Given the description of an element on the screen output the (x, y) to click on. 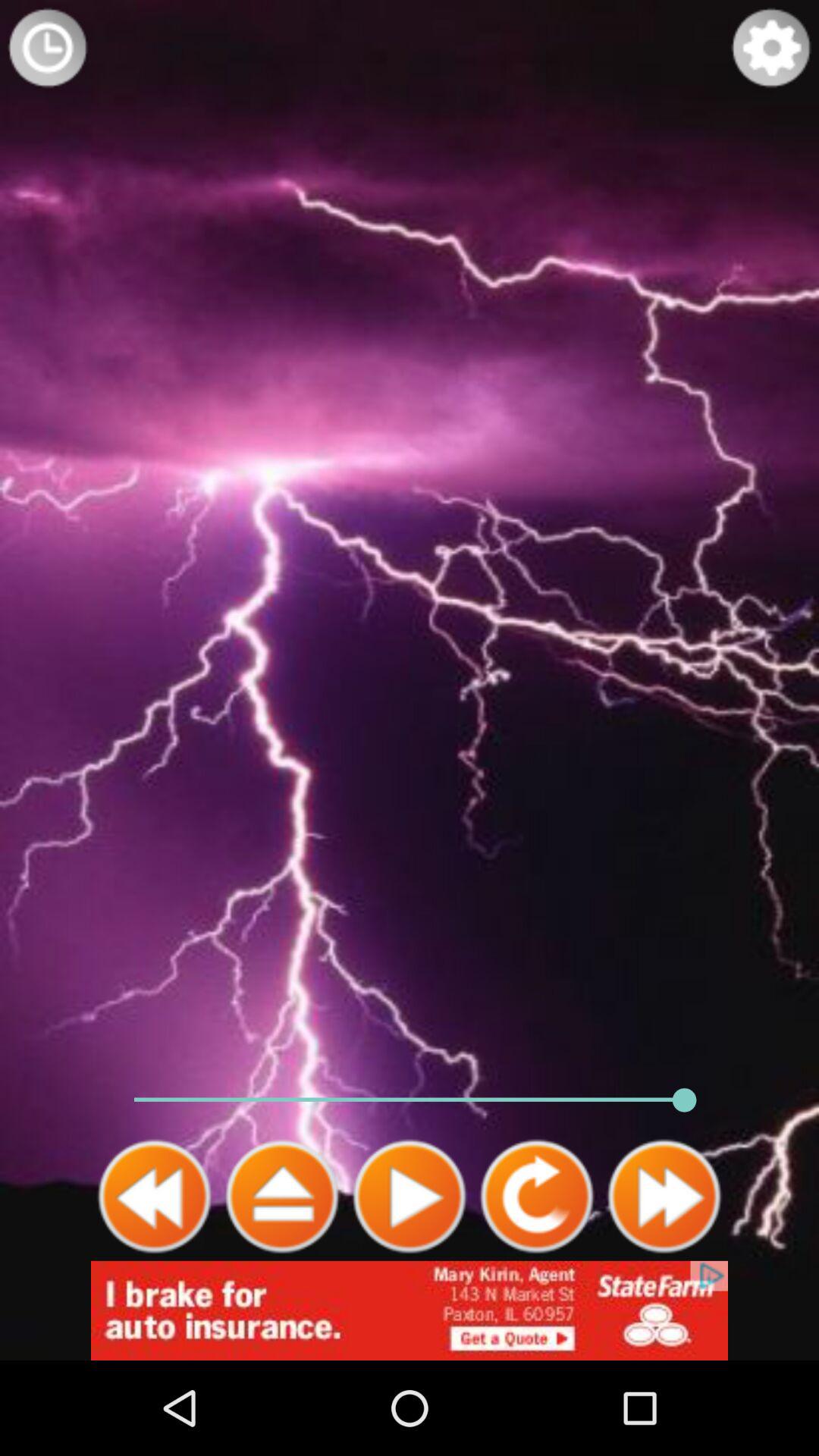
goes to next song (664, 1196)
